Given the description of an element on the screen output the (x, y) to click on. 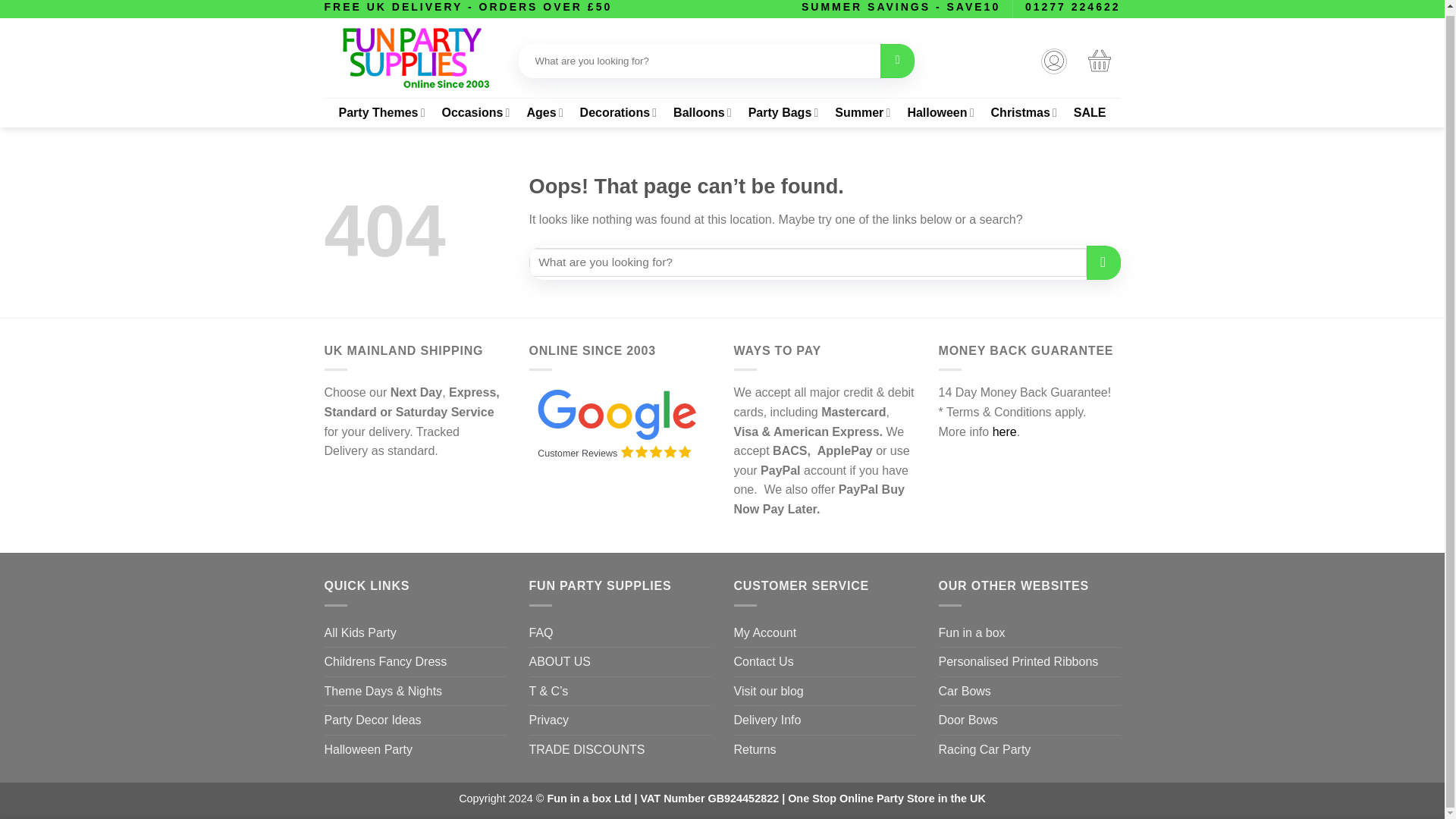
Basket (1099, 60)
Party Themes (381, 112)
01277 224622 (1073, 6)
SUMMER SAVINGS - SAVE10 (901, 6)
Search (897, 60)
Occasions (475, 112)
